Given the description of an element on the screen output the (x, y) to click on. 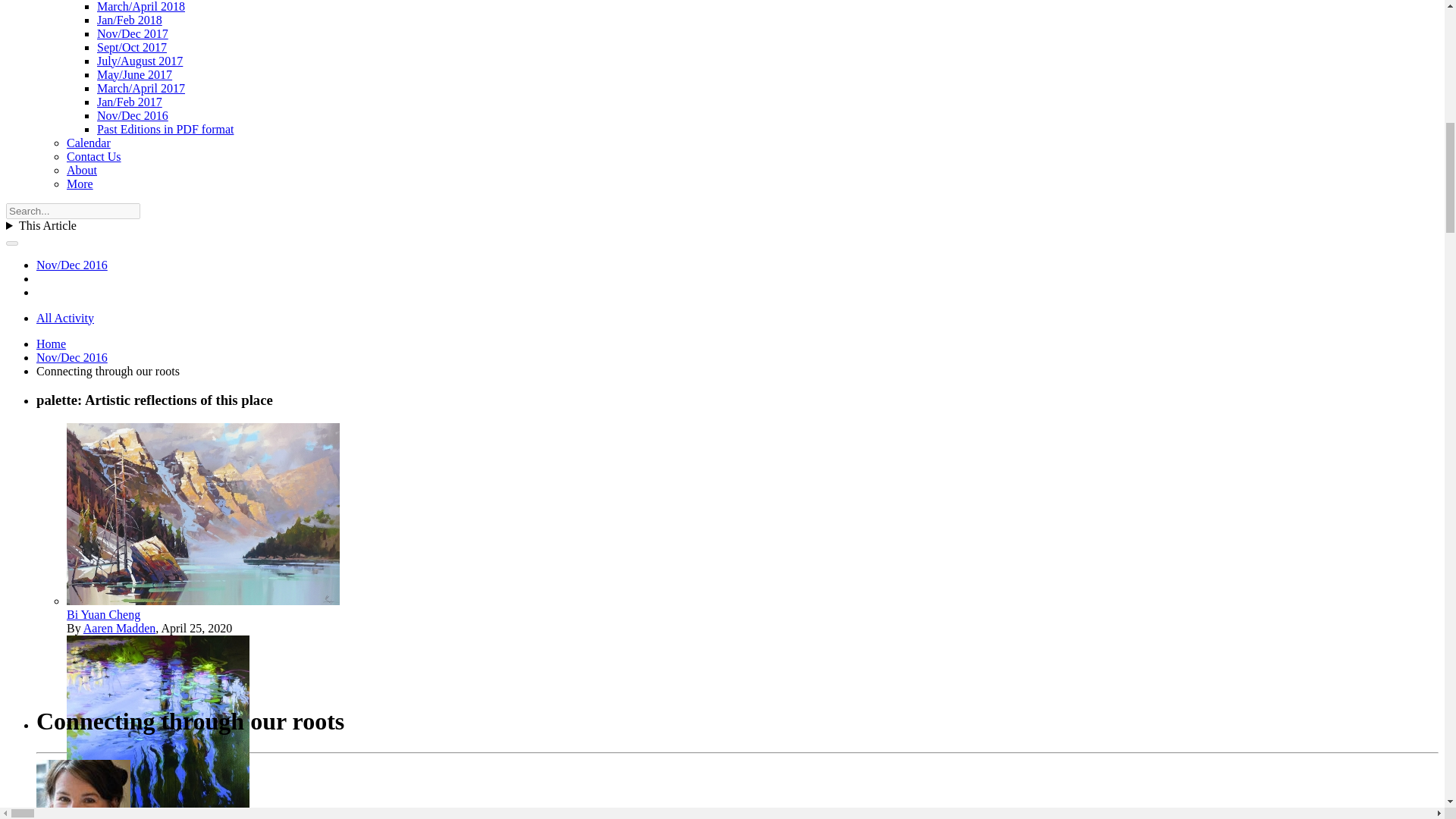
Calendar (88, 142)
View the image Bi Yuan Cheng (202, 600)
2020-04-25 12:52  AM (195, 627)
Past Editions in PDF format (164, 128)
About (81, 169)
More (79, 183)
Home (50, 343)
View the image Bi Yuan Cheng (102, 614)
View the image Blu Smith (157, 812)
Go to Aaren Madden's profile (118, 627)
Contact Us (93, 155)
